Given the description of an element on the screen output the (x, y) to click on. 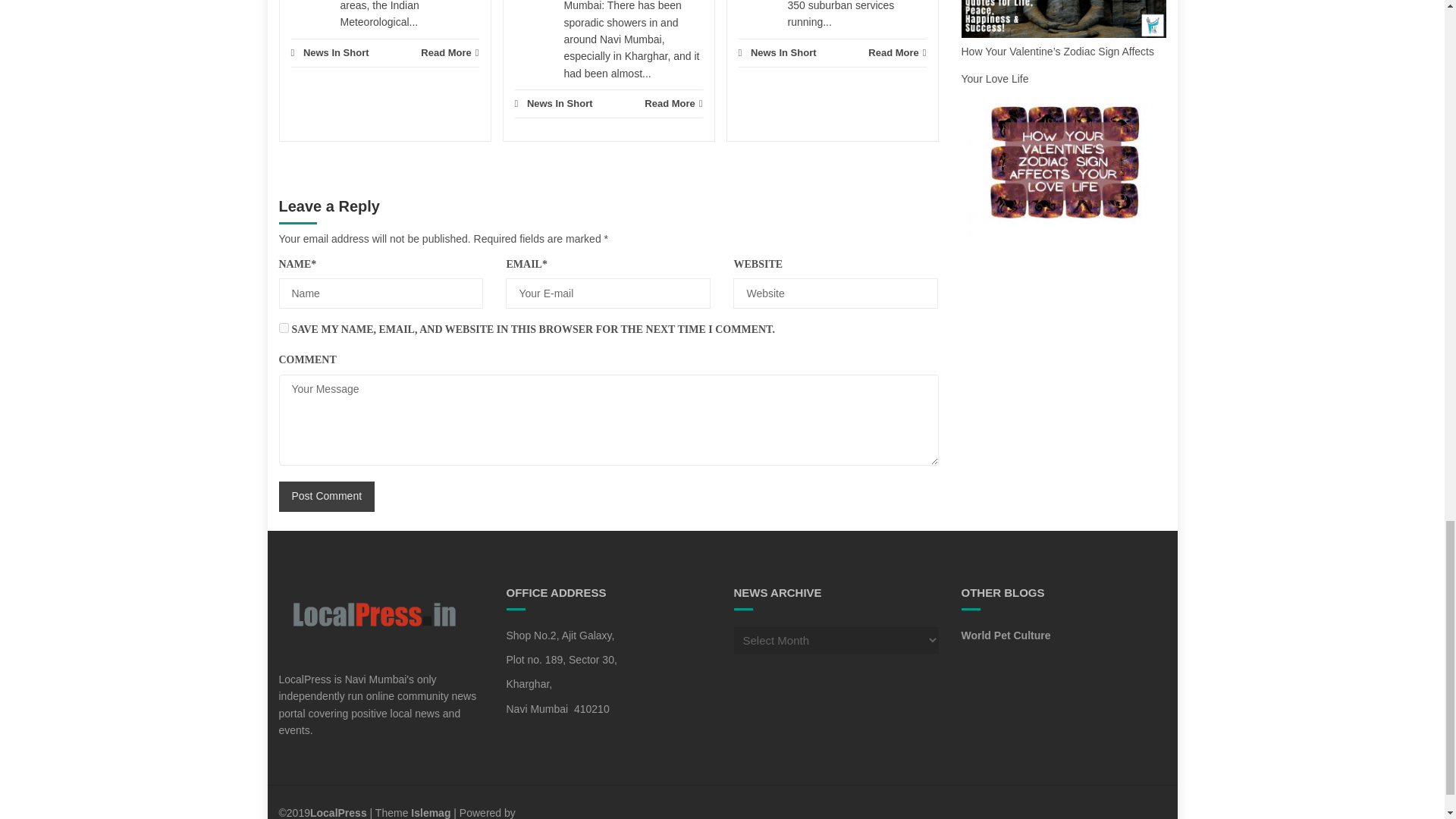
Post Comment (327, 496)
yes (283, 327)
